Given the description of an element on the screen output the (x, y) to click on. 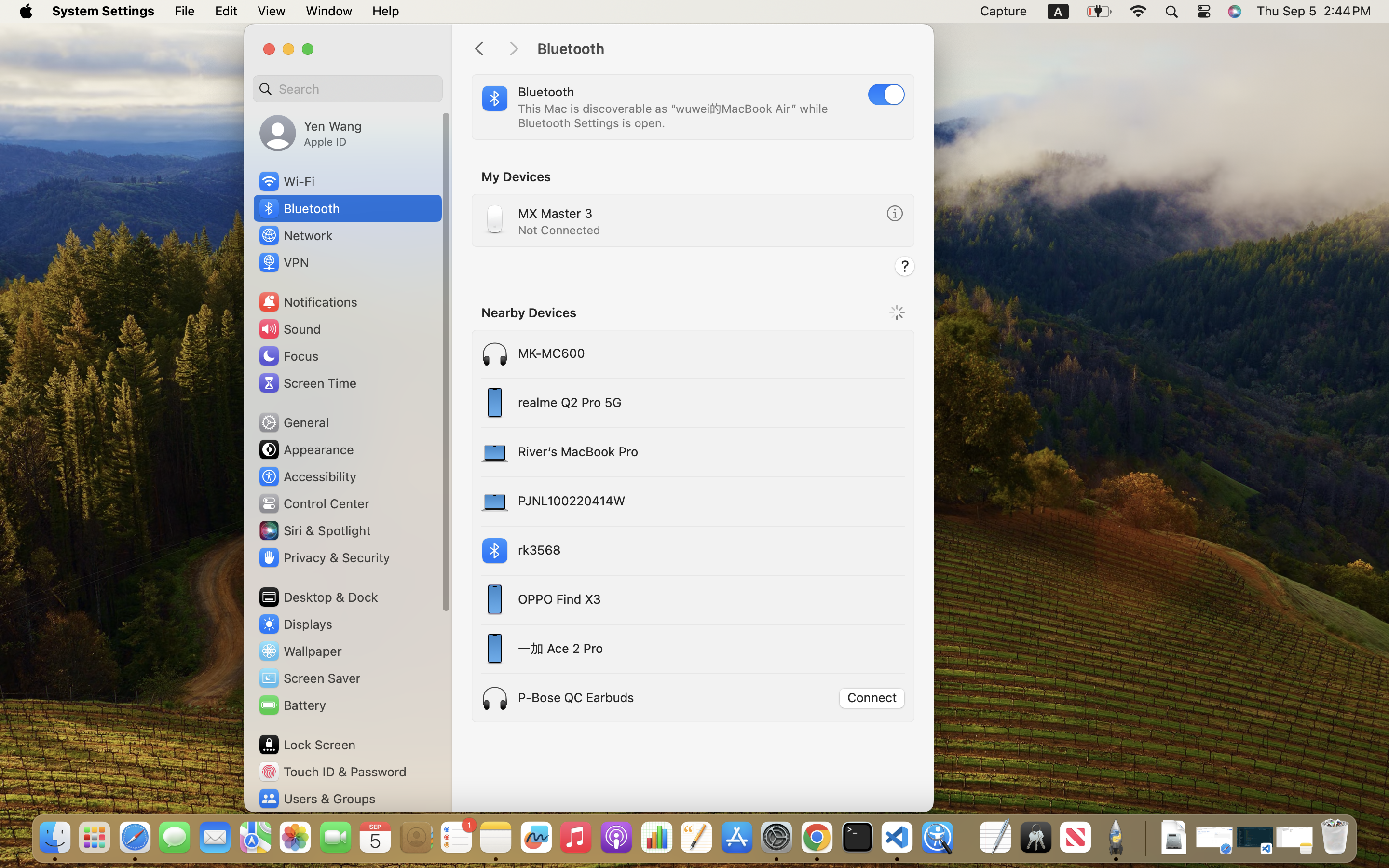
Focus Element type: AXStaticText (287, 355)
Displays Element type: AXStaticText (294, 623)
Lock Screen Element type: AXStaticText (306, 744)
Touch ID & Password Element type: AXStaticText (332, 771)
1 Element type: AXCheckBox (886, 94)
